Given the description of an element on the screen output the (x, y) to click on. 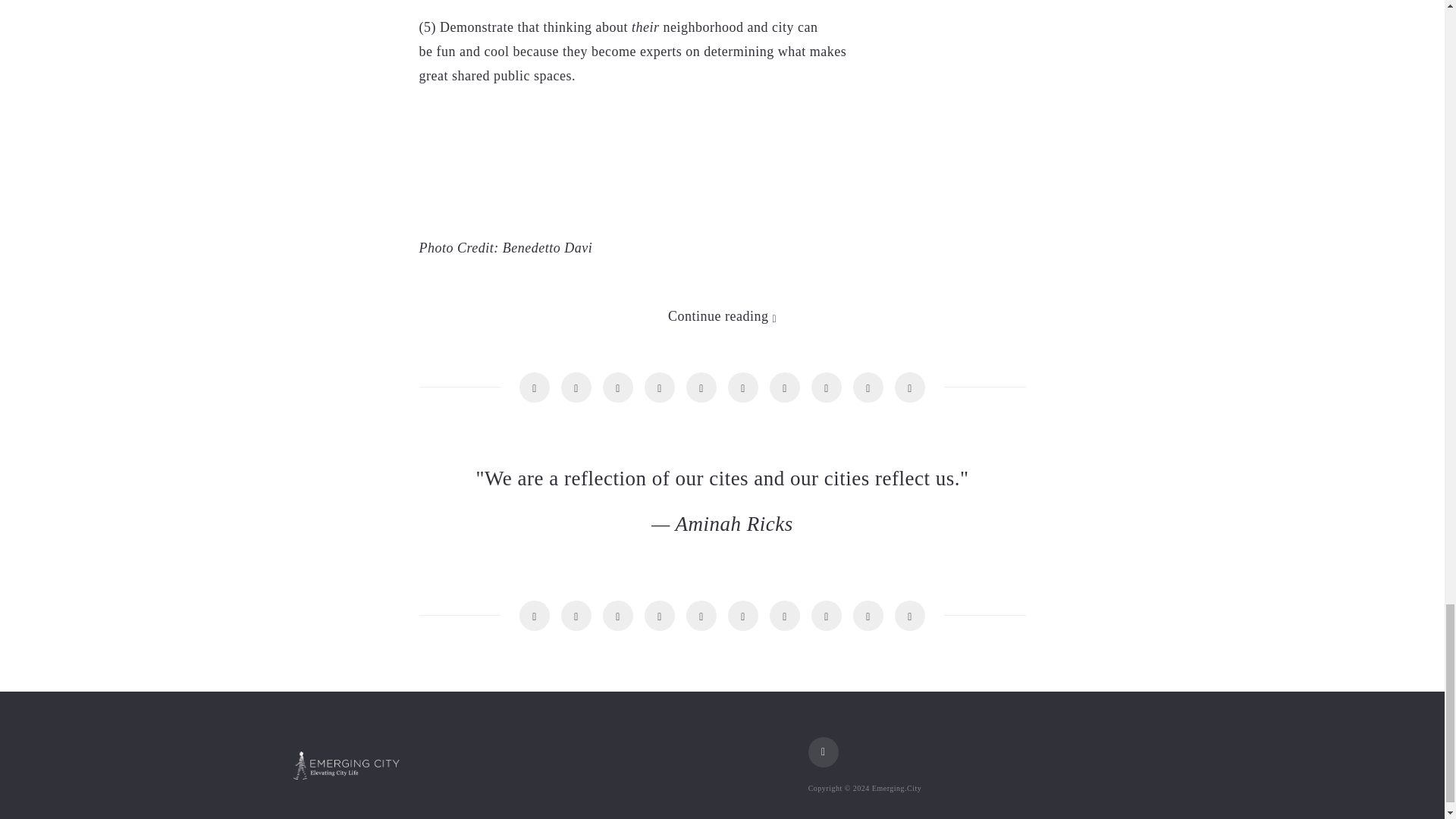
Follow us on Linkedin (823, 752)
Continue reading (722, 315)
Emerging.City (345, 765)
